Given the description of an element on the screen output the (x, y) to click on. 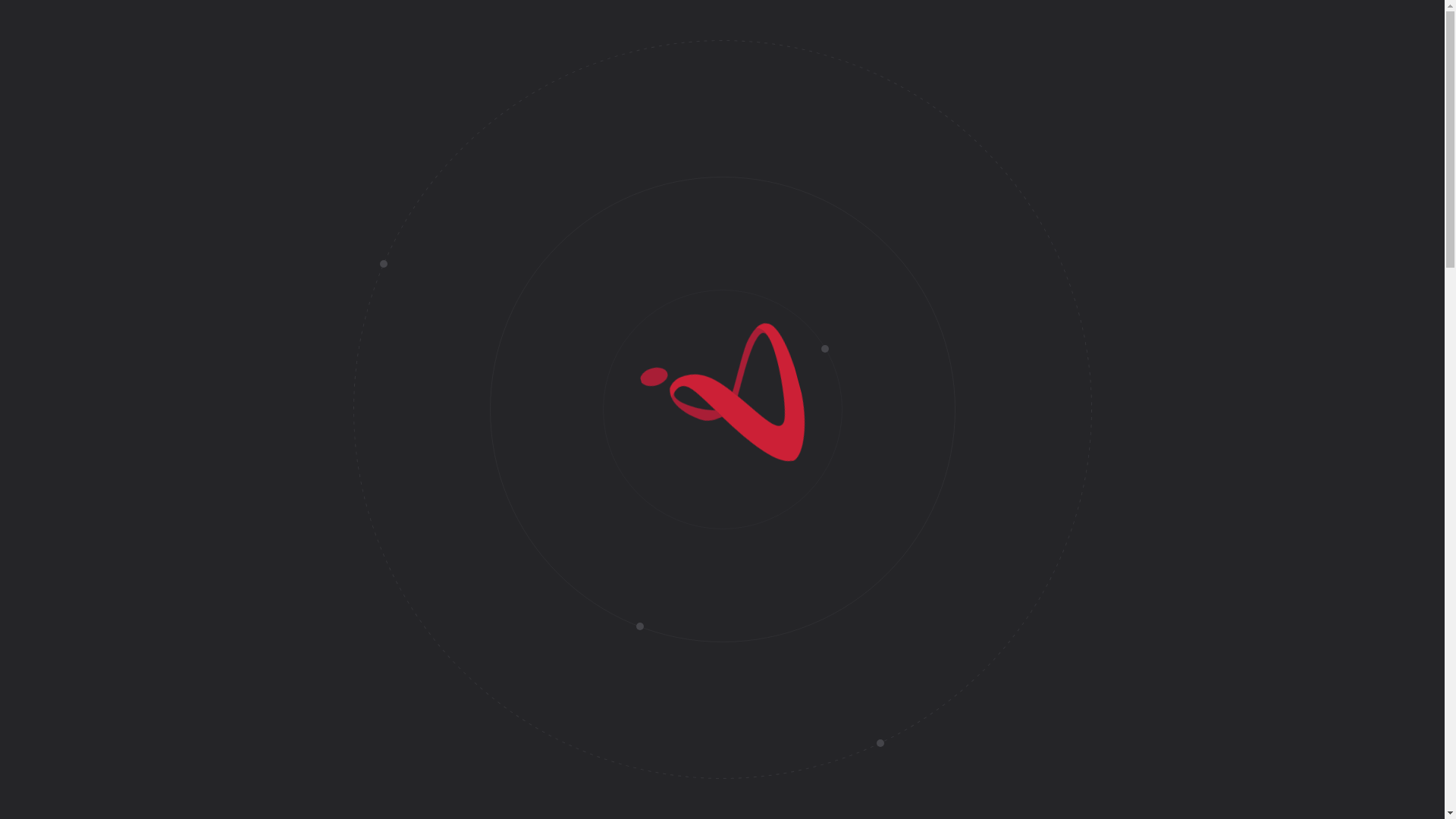
Nabava Element type: text (195, 101)
KONTAKT Element type: text (205, 129)
IMPLEMENTACIJA Element type: text (235, 115)
Usluge Element type: text (671, 101)
Prodaja Element type: text (243, 101)
LOG IN Element type: text (197, 158)
Proizvodnja Element type: text (545, 101)
HELP DESK Element type: text (212, 144)
Logistika Element type: text (390, 101)
Ljudski resursi Element type: text (464, 101)
